Given the description of an element on the screen output the (x, y) to click on. 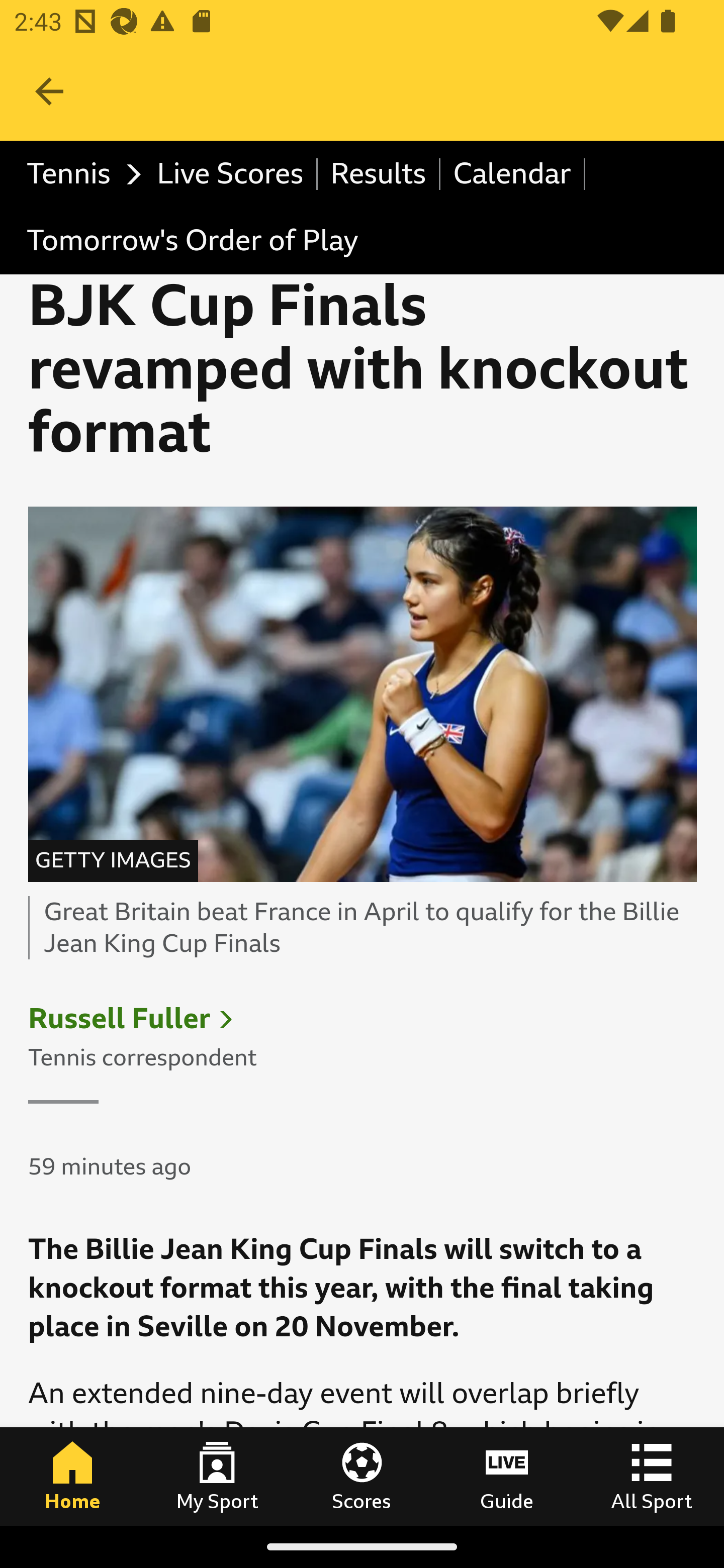
Navigate up (49, 91)
Tennis (79, 173)
Live Scores (231, 173)
Results (379, 173)
Calendar (512, 173)
Tomorrow's Order of Play (191, 240)
Russell Fuller (119, 1018)
My Sport (216, 1475)
Scores (361, 1475)
Guide (506, 1475)
All Sport (651, 1475)
